Given the description of an element on the screen output the (x, y) to click on. 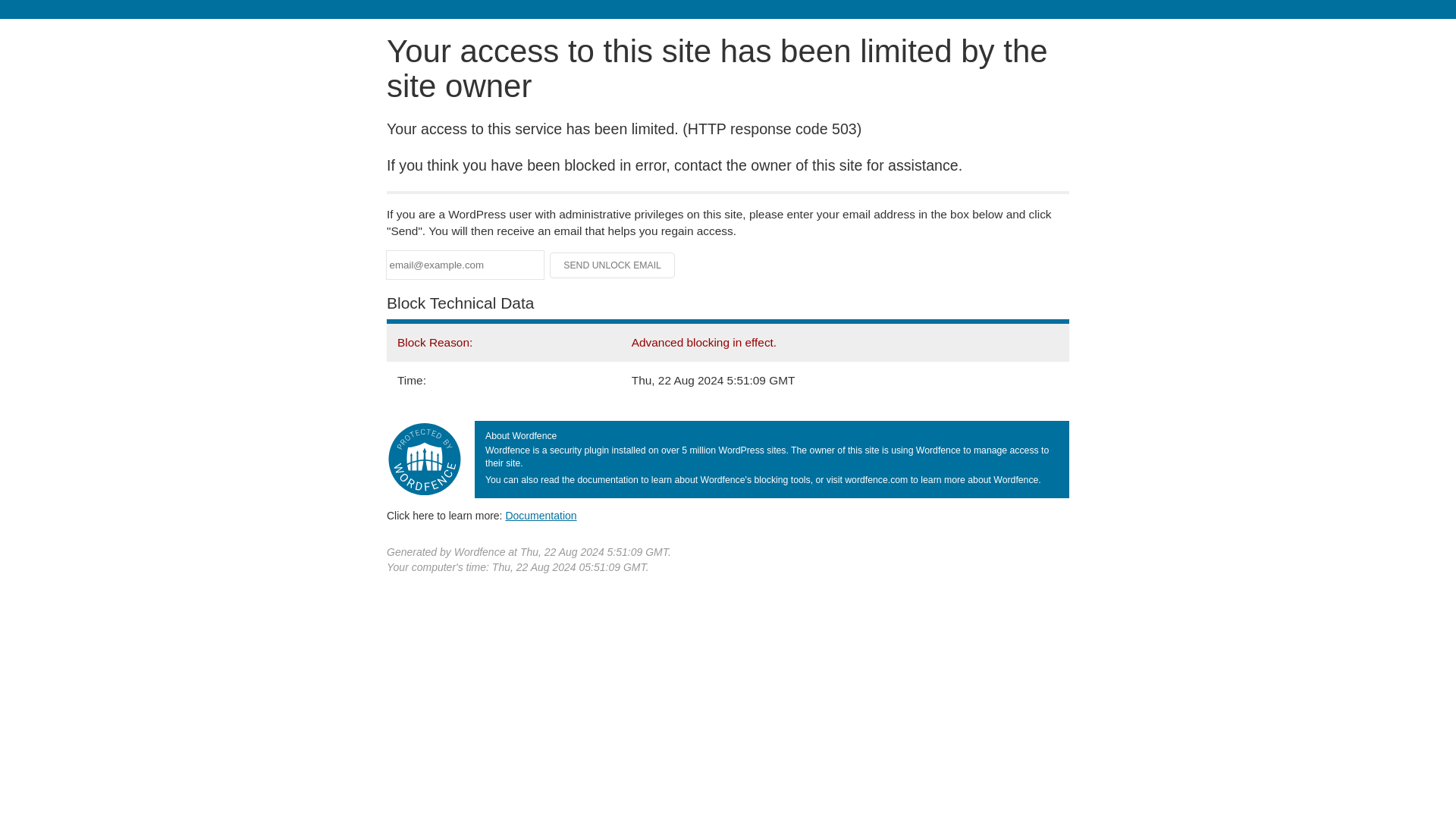
Send Unlock Email (612, 265)
Documentation (540, 515)
Send Unlock Email (612, 265)
